Given the description of an element on the screen output the (x, y) to click on. 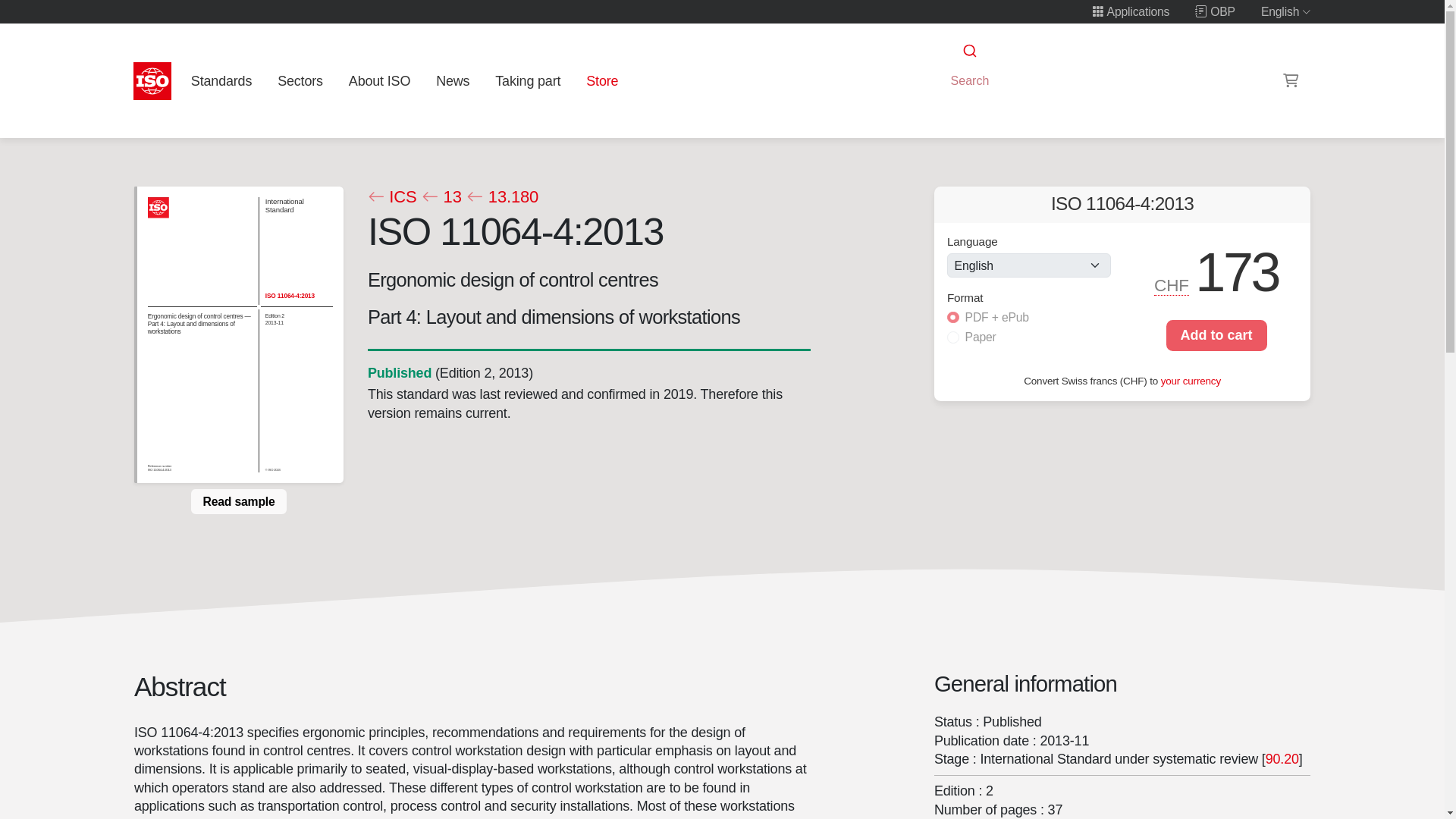
Published (398, 372)
90.20 (1281, 758)
News (452, 80)
Online Browsing Platform (1214, 11)
Life cycle (398, 372)
13.180 (501, 197)
Taking part (528, 80)
 Applications (1130, 11)
Sectors (300, 80)
ICS (391, 197)
Swiss francs (1171, 285)
